Given the description of an element on the screen output the (x, y) to click on. 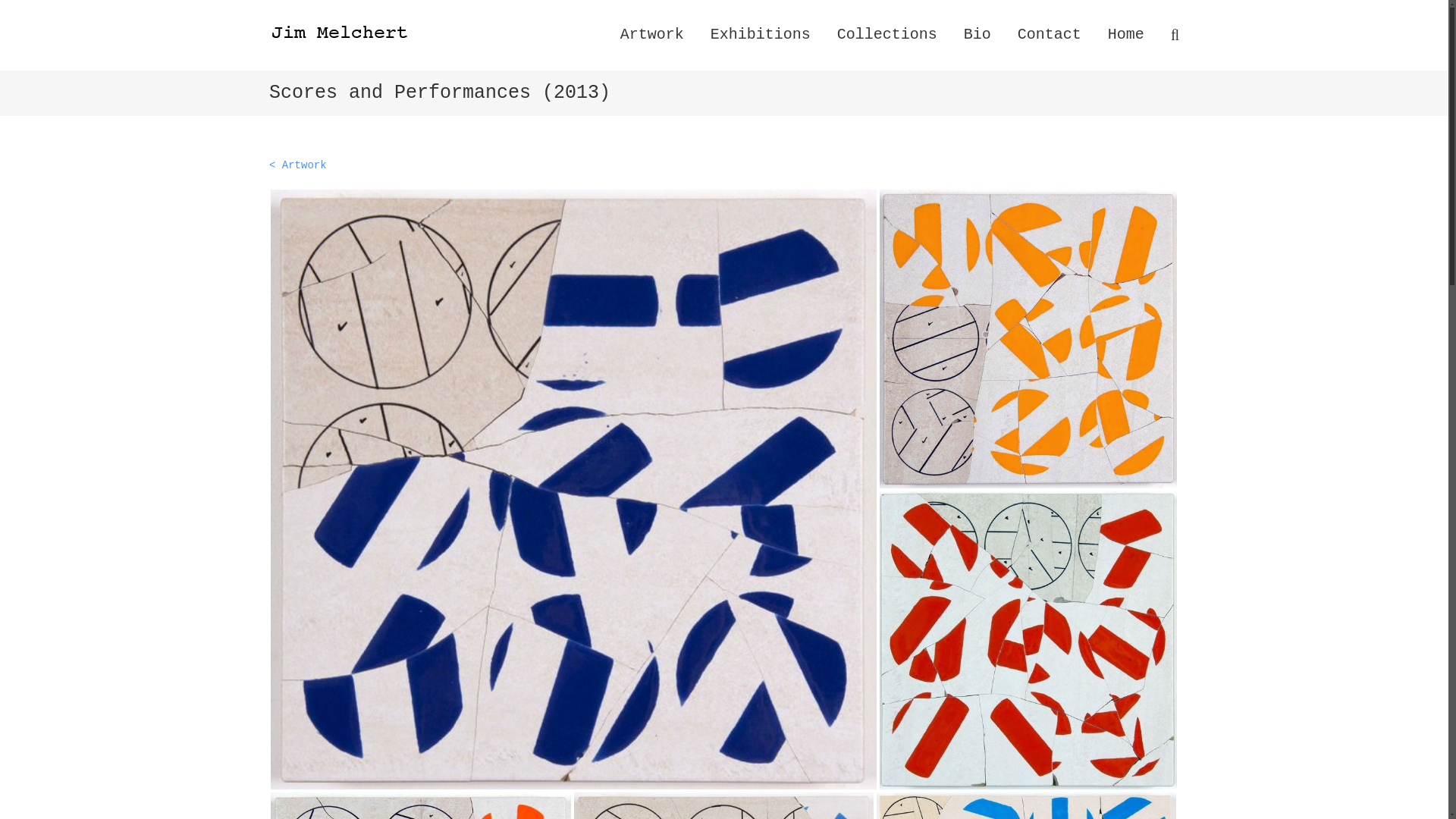
12 x 12 inches (1027, 639)
Score and Performance Series: Blue (1026, 805)
Artwork (652, 33)
Contact (1049, 33)
Score and Performance Series: Orange (420, 805)
12 x 12 inches (1027, 338)
Score and Performance Series: Blue (723, 805)
Score and Performance Series: Red (1027, 640)
Exhibitions (760, 33)
Collections (887, 33)
12 x 12 inches (573, 489)
Score and Performance Series: Yellow (1027, 338)
